Given the description of an element on the screen output the (x, y) to click on. 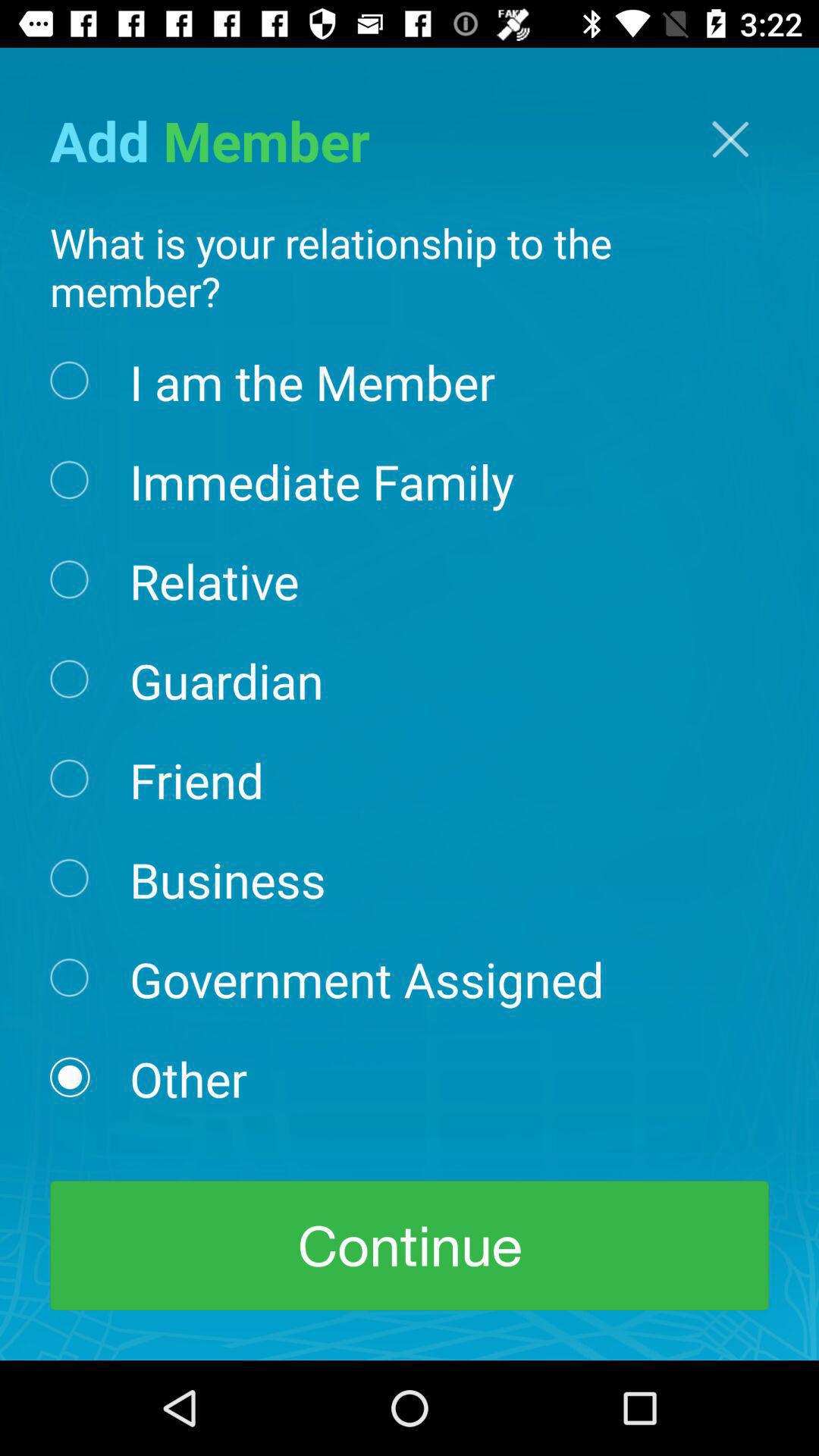
turn off the icon below the immediate family (214, 579)
